Given the description of an element on the screen output the (x, y) to click on. 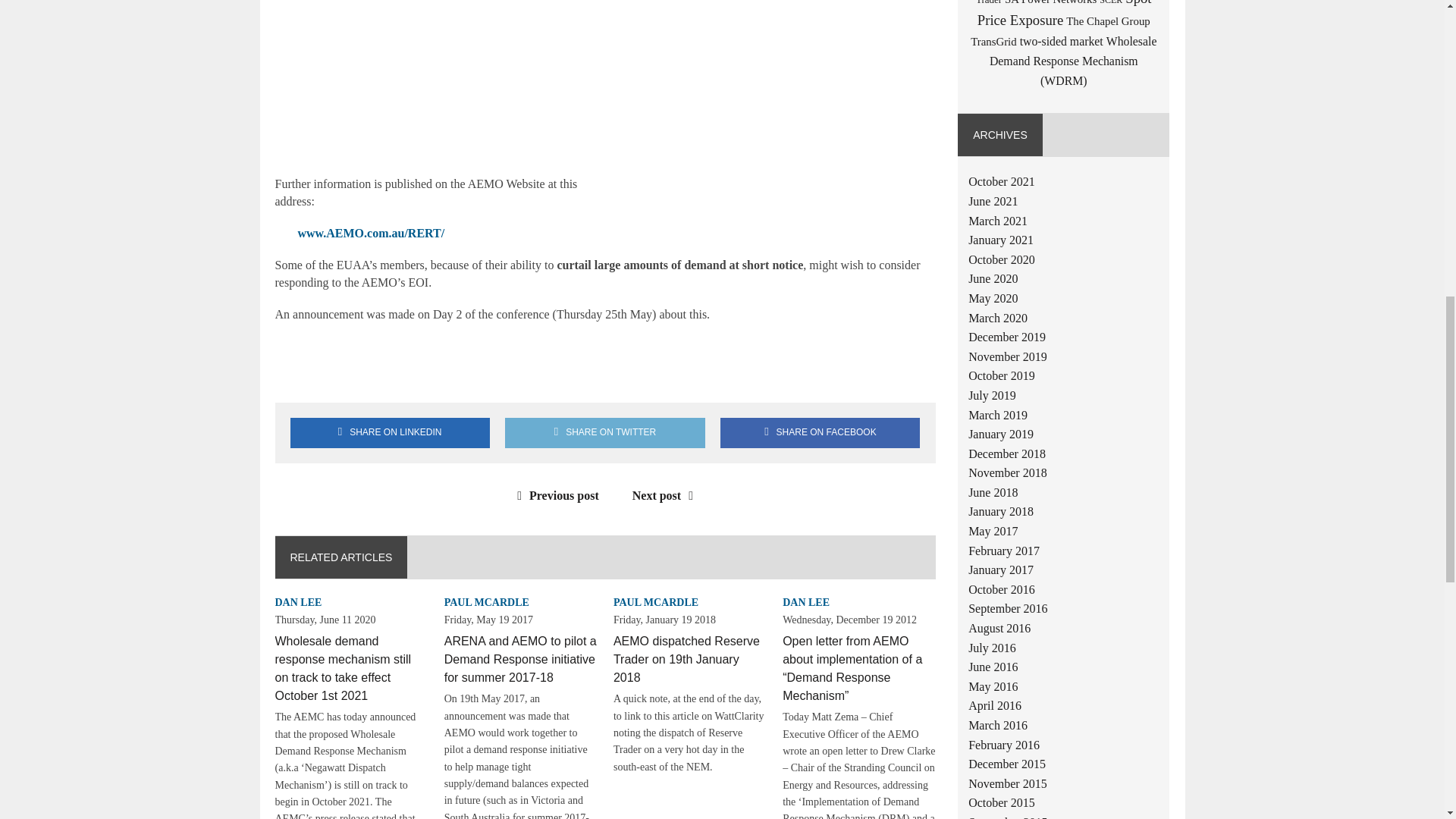
Next post (665, 495)
Share on Linkedin (389, 432)
SHARE ON LINKEDIN (389, 432)
AEMO dispatched Reserve Trader on 19th January 2018 (686, 658)
DAN LEE (298, 602)
Tweet This Post (604, 432)
DAN LEE (806, 602)
Share on Facebook (820, 432)
PAUL MCARDLE (655, 602)
AEMO dispatched Reserve Trader on 19th January 2018 (686, 658)
Previous post (553, 495)
